Given the description of an element on the screen output the (x, y) to click on. 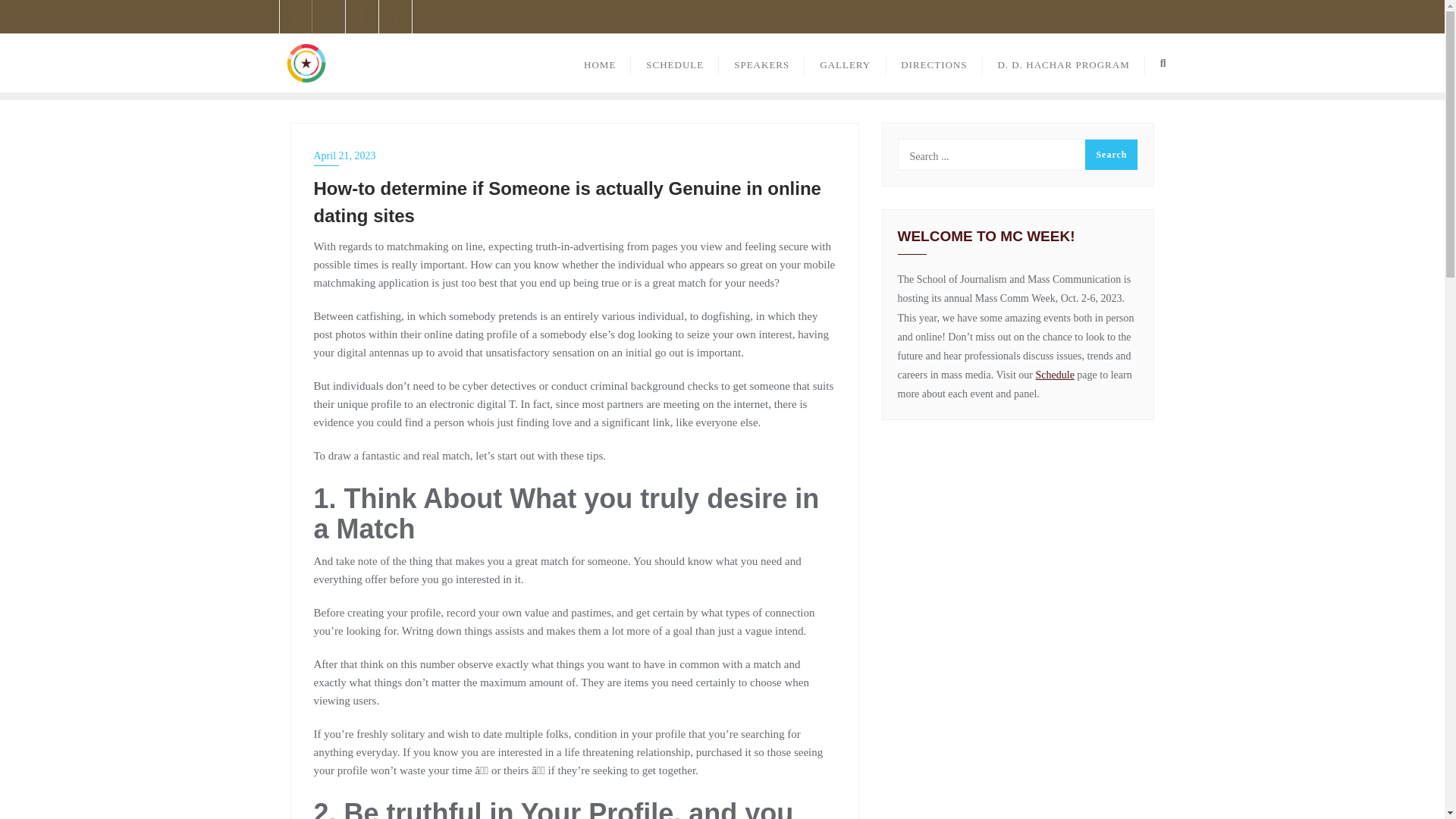
SCHEDULE (674, 63)
April 21, 2023 (574, 155)
Search (1110, 154)
D. D. HACHAR PROGRAM (1062, 63)
HOME (599, 63)
SPEAKERS (762, 63)
Search (1110, 154)
Schedule (1054, 374)
DIRECTIONS (933, 63)
GALLERY (845, 63)
Search (1110, 154)
